Given the description of an element on the screen output the (x, y) to click on. 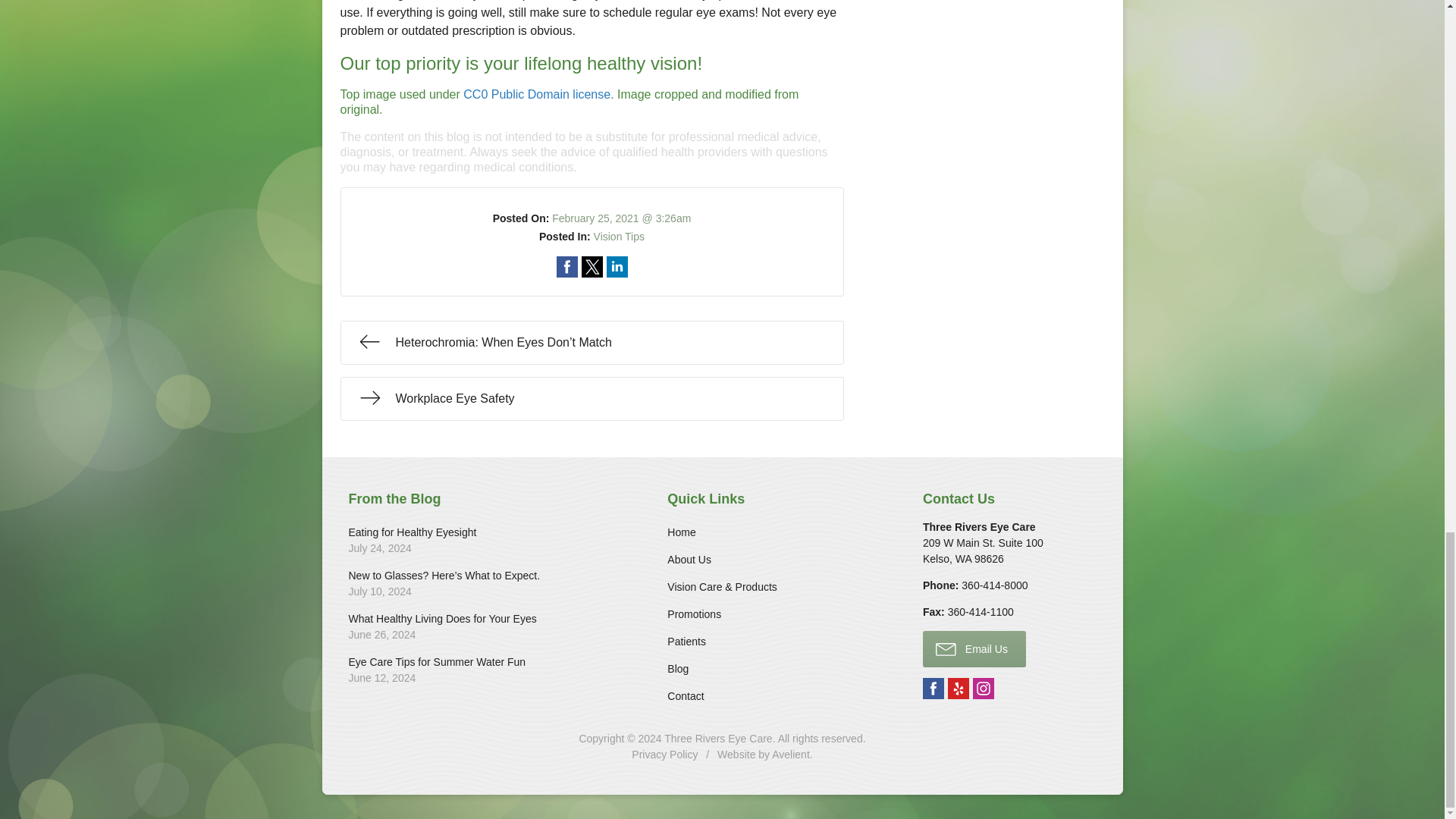
CC0 Public Domain license (536, 93)
Contact practice (993, 585)
Share on Facebook (567, 266)
Powered by Avelient (790, 754)
Share on LinkedIn (617, 266)
Go to our Yelp Page (958, 688)
Go to our Facebook Page (933, 688)
Share on Facebook (567, 266)
Share on Twitter (591, 266)
Share on LinkedIn (617, 266)
Workplace Eye Safety (591, 398)
Share on Twitter (591, 266)
Open this address in Google Maps (983, 551)
Go to our Instagram Page (983, 688)
Vision Tips (619, 236)
